Given the description of an element on the screen output the (x, y) to click on. 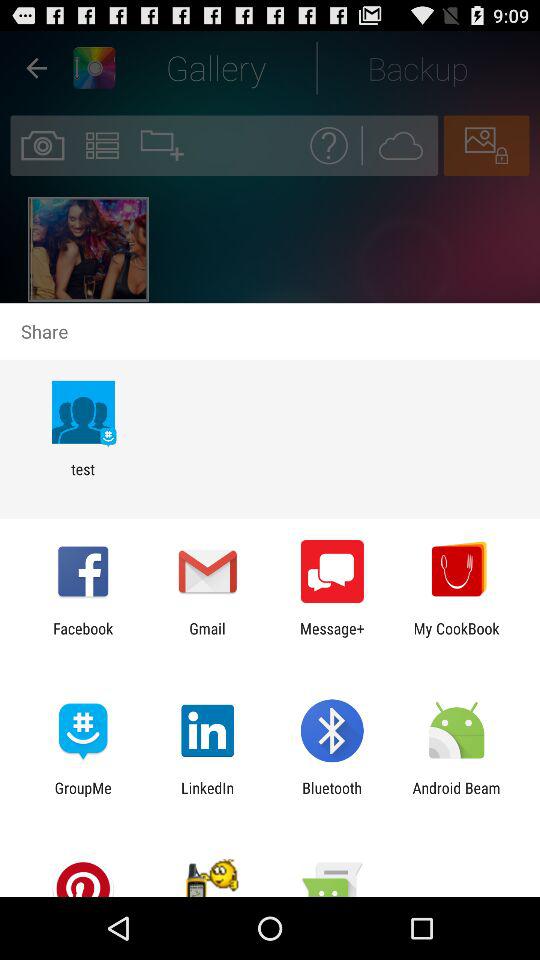
launch the app to the right of groupme (207, 796)
